Given the description of an element on the screen output the (x, y) to click on. 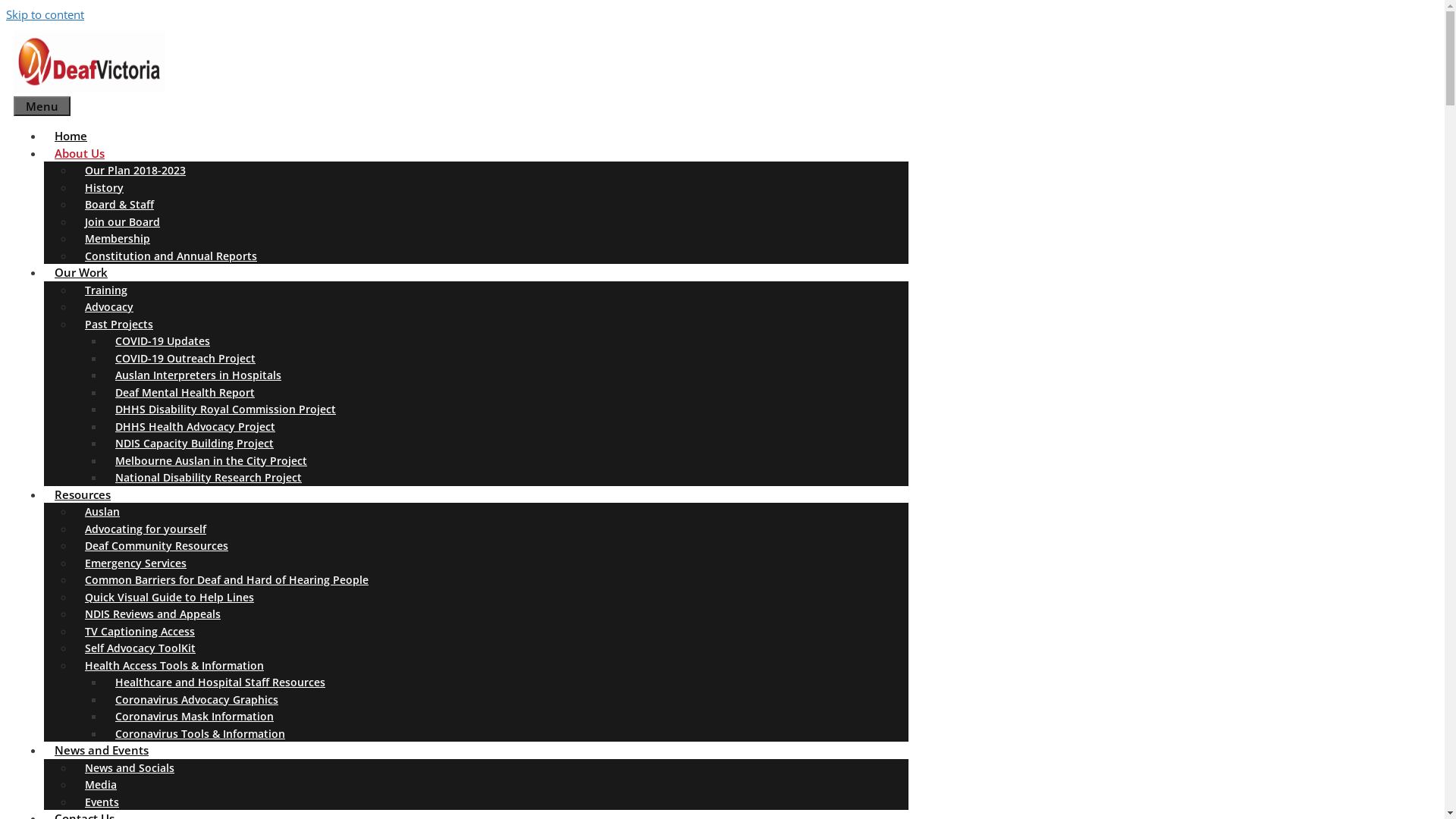
COVID-19 Updates Element type: text (162, 340)
Coronavirus Tools & Information Element type: text (199, 733)
Our Work Element type: text (85, 271)
Quick Visual Guide to Help Lines Element type: text (169, 596)
Deaf Mental Health Report Element type: text (184, 392)
Melbourne Auslan in the City Project Element type: text (210, 460)
Membership Element type: text (117, 238)
National Disability Research Project Element type: text (208, 477)
Advocating for yourself Element type: text (145, 528)
Events Element type: text (101, 801)
Auslan Interpreters in Hospitals Element type: text (197, 374)
Our Plan 2018-2023 Element type: text (135, 170)
Advocacy Element type: text (109, 306)
DHHS Disability Royal Commission Project Element type: text (225, 408)
Common Barriers for Deaf and Hard of Hearing People Element type: text (226, 579)
Self Advocacy ToolKit Element type: text (140, 647)
Board & Staff Element type: text (119, 204)
Deaf Community Resources Element type: text (156, 545)
Coronavirus Mask Information Element type: text (194, 716)
Health Access Tools & Information Element type: text (179, 665)
Constitution and Annual Reports Element type: text (170, 255)
Resources Element type: text (87, 494)
NDIS Capacity Building Project Element type: text (194, 443)
History Element type: text (104, 187)
Home Element type: text (70, 135)
Emergency Services Element type: text (135, 562)
Media Element type: text (100, 784)
TV Captioning Access Element type: text (139, 630)
Skip to content Element type: text (45, 13)
Auslan Element type: text (102, 511)
Coronavirus Advocacy Graphics Element type: text (196, 698)
News and Socials Element type: text (129, 766)
NDIS Reviews and Appeals Element type: text (152, 613)
COVID-19 Outreach Project Element type: text (185, 357)
Training Element type: text (106, 289)
Healthcare and Hospital Staff Resources Element type: text (219, 681)
News and Events Element type: text (106, 749)
About Us Element type: text (84, 152)
Menu Element type: text (41, 106)
Past Projects Element type: text (124, 323)
DHHS Health Advocacy Project Element type: text (194, 425)
Join our Board Element type: text (122, 220)
